Given the description of an element on the screen output the (x, y) to click on. 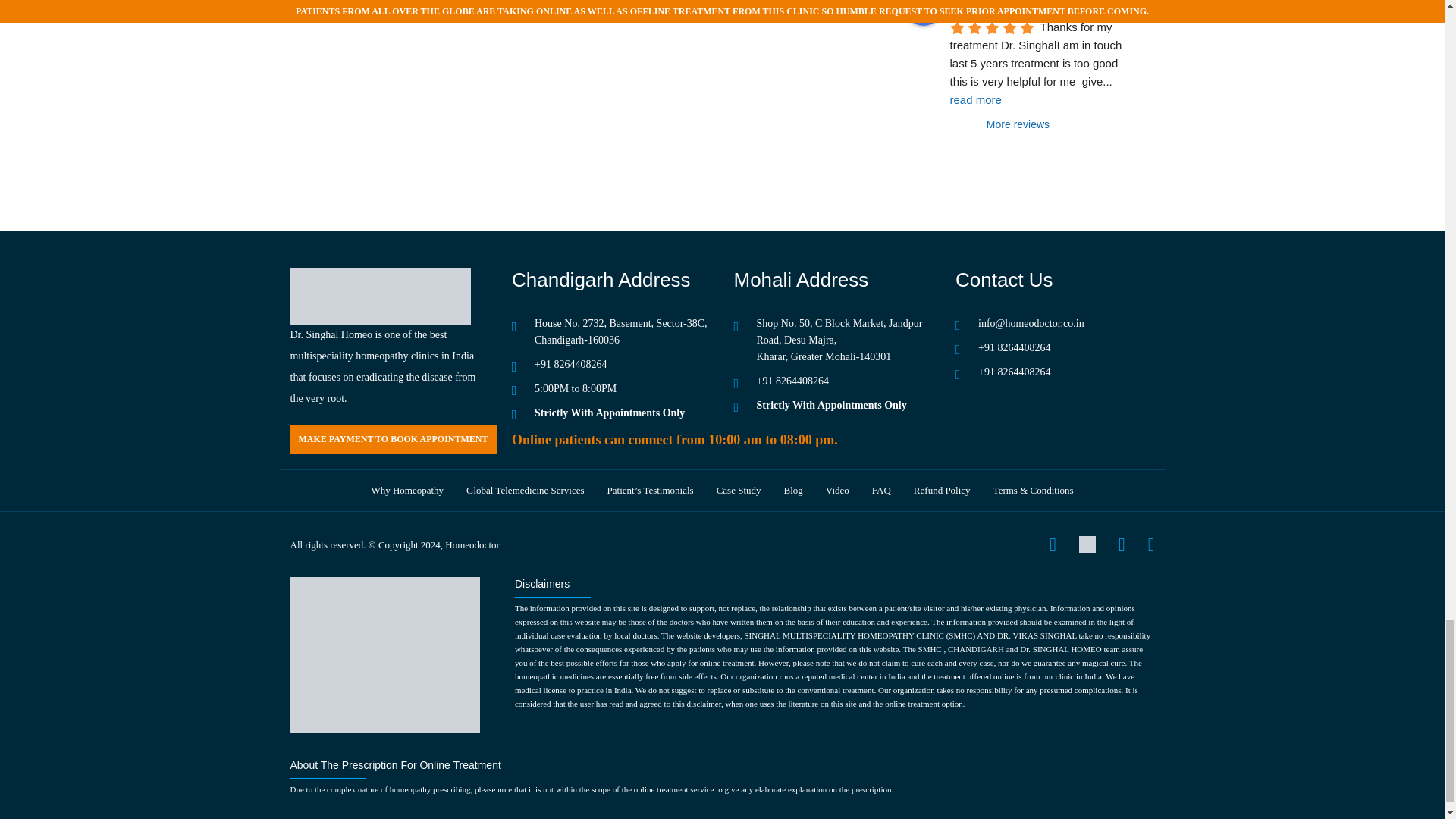
Manjit Singh (923, 12)
